Given the description of an element on the screen output the (x, y) to click on. 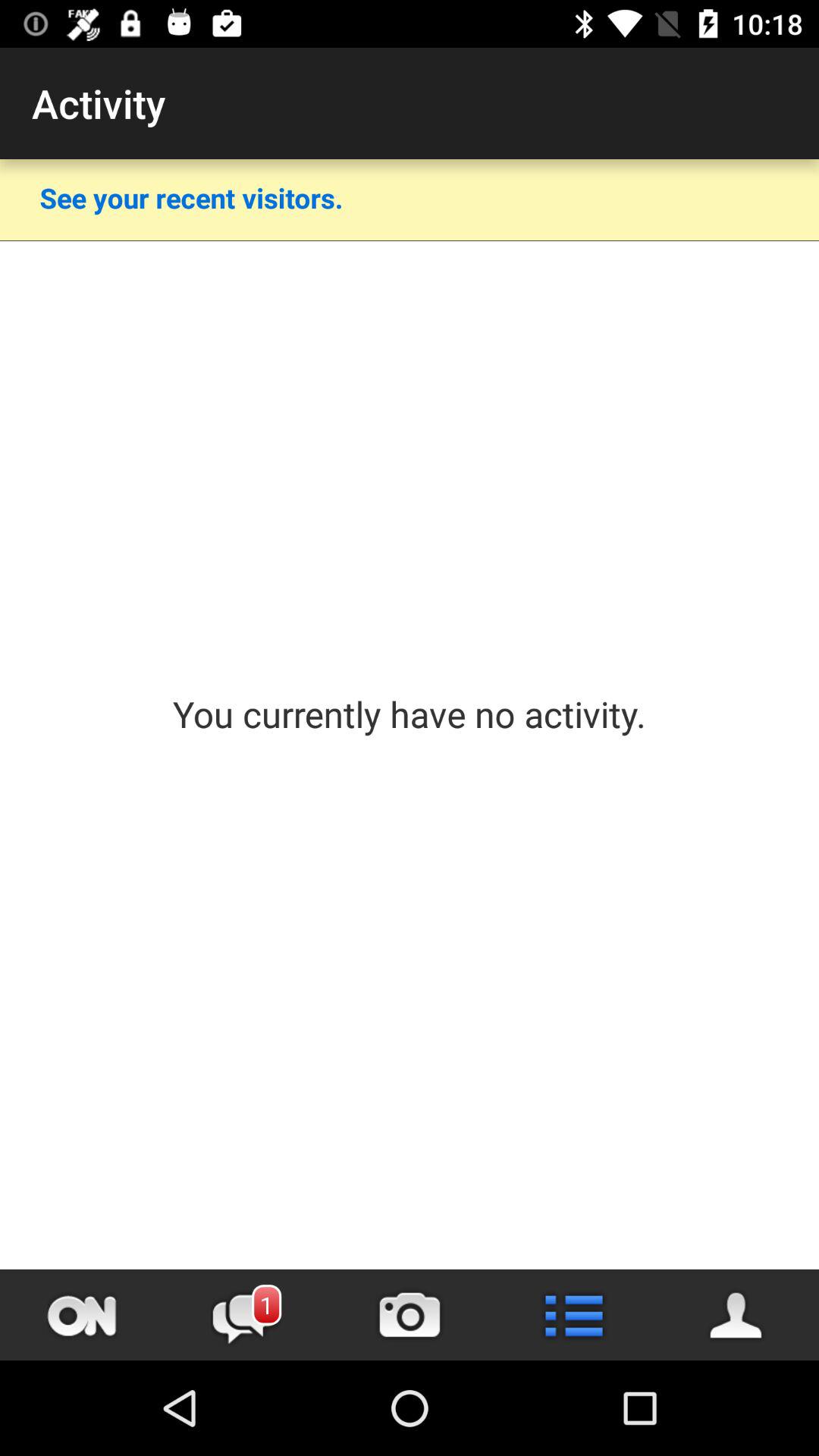
accound (737, 1315)
